Given the description of an element on the screen output the (x, y) to click on. 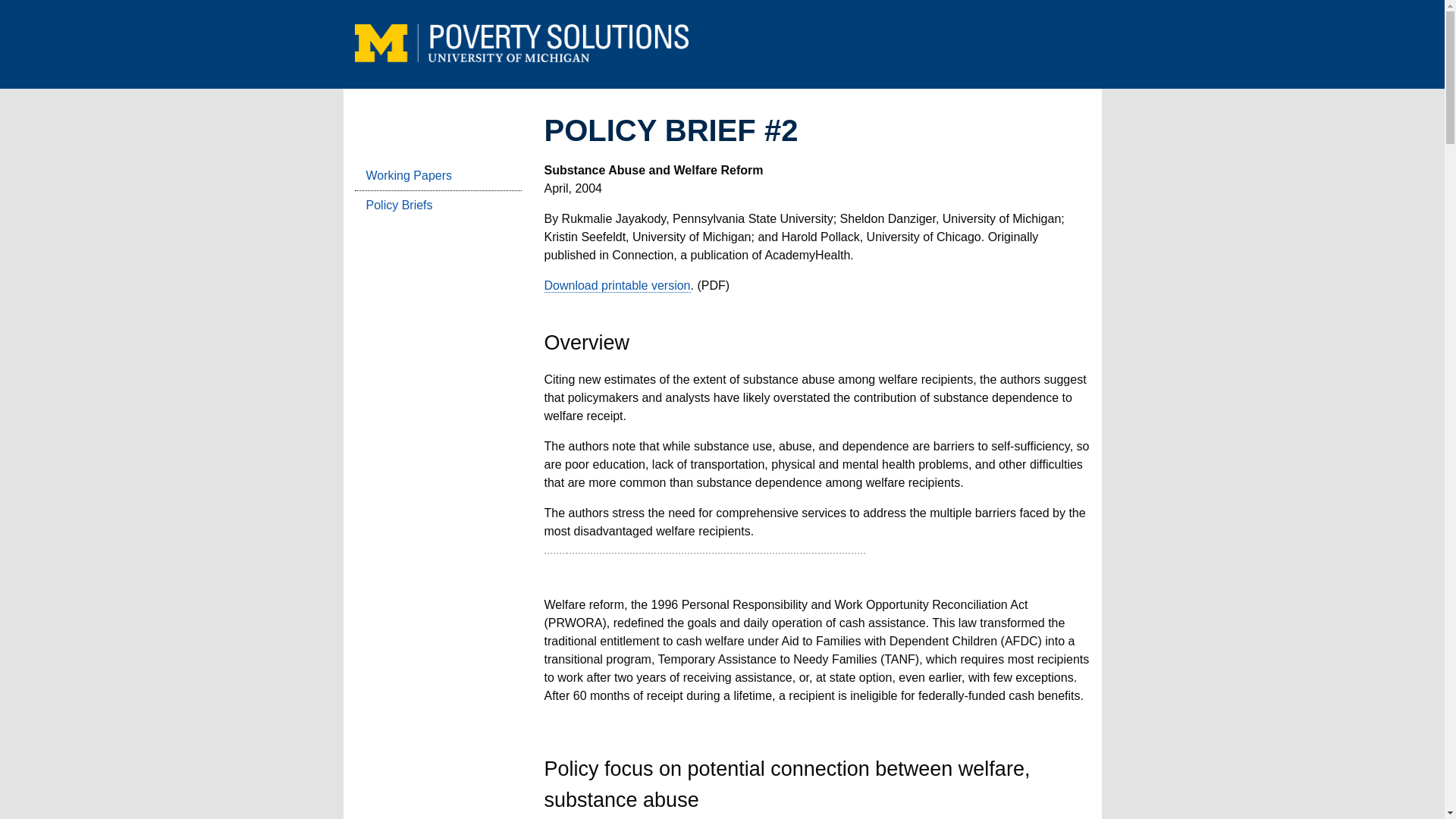
Poverty Solutions at The University of Michigan (521, 53)
Poverty Solutions at The University of Michigan (521, 43)
Working Papers (438, 175)
Policy Briefs (438, 205)
Download printable version (617, 285)
